Given the description of an element on the screen output the (x, y) to click on. 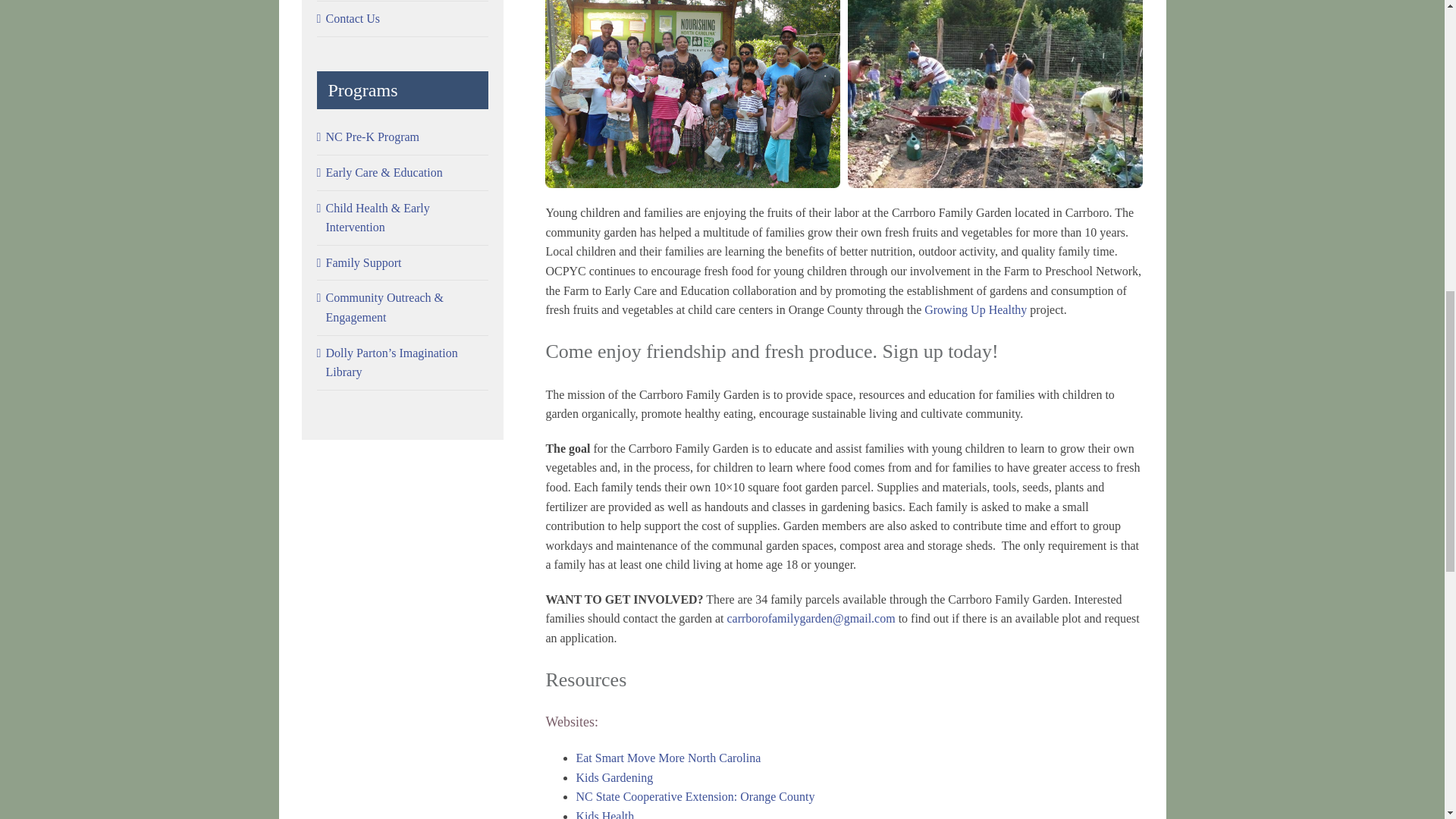
group shot (692, 3)
kids gardening (994, 3)
